Given the description of an element on the screen output the (x, y) to click on. 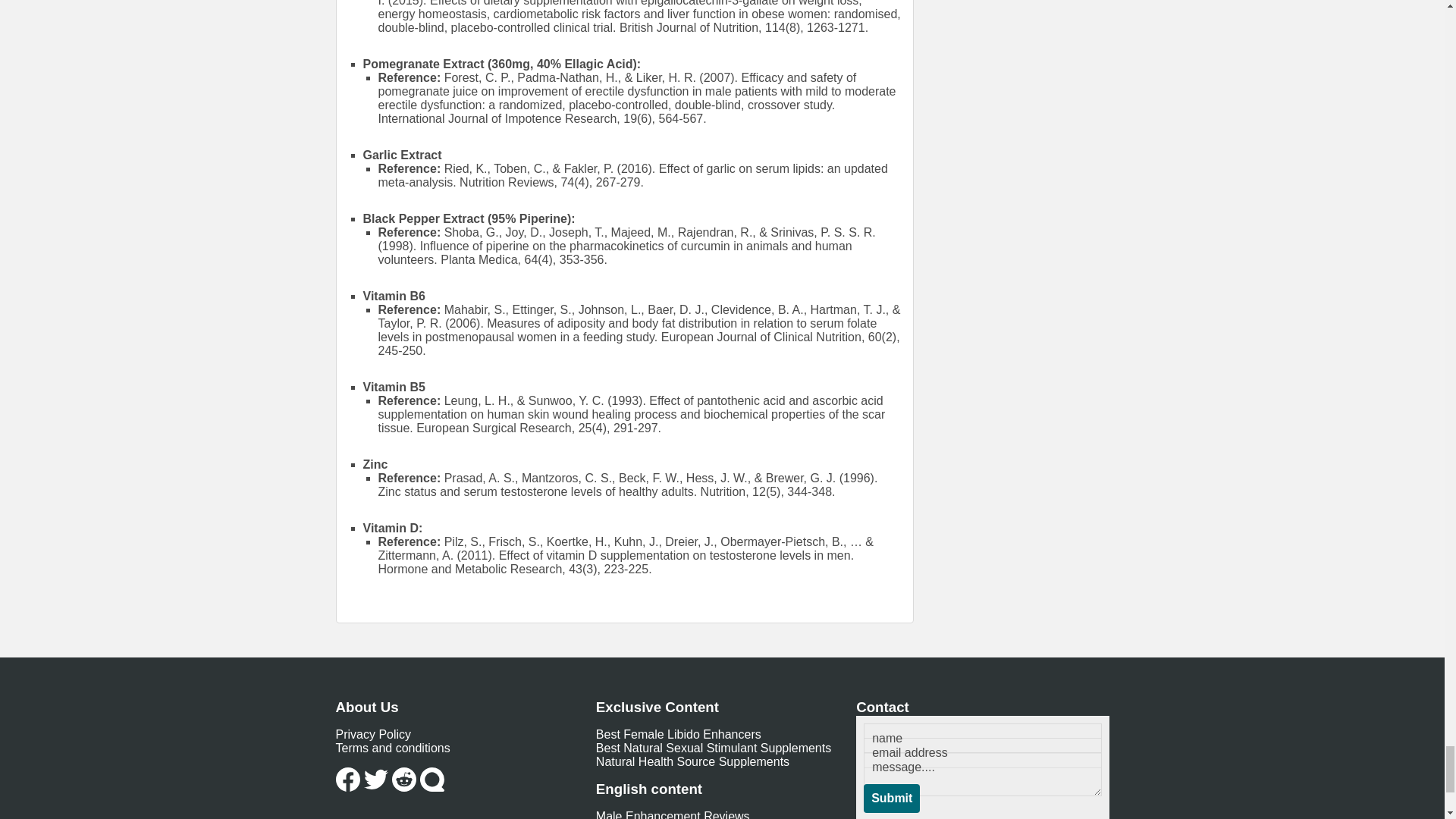
Reddit (402, 779)
Facebook (346, 779)
Quora (432, 779)
Twitter (376, 779)
